Given the description of an element on the screen output the (x, y) to click on. 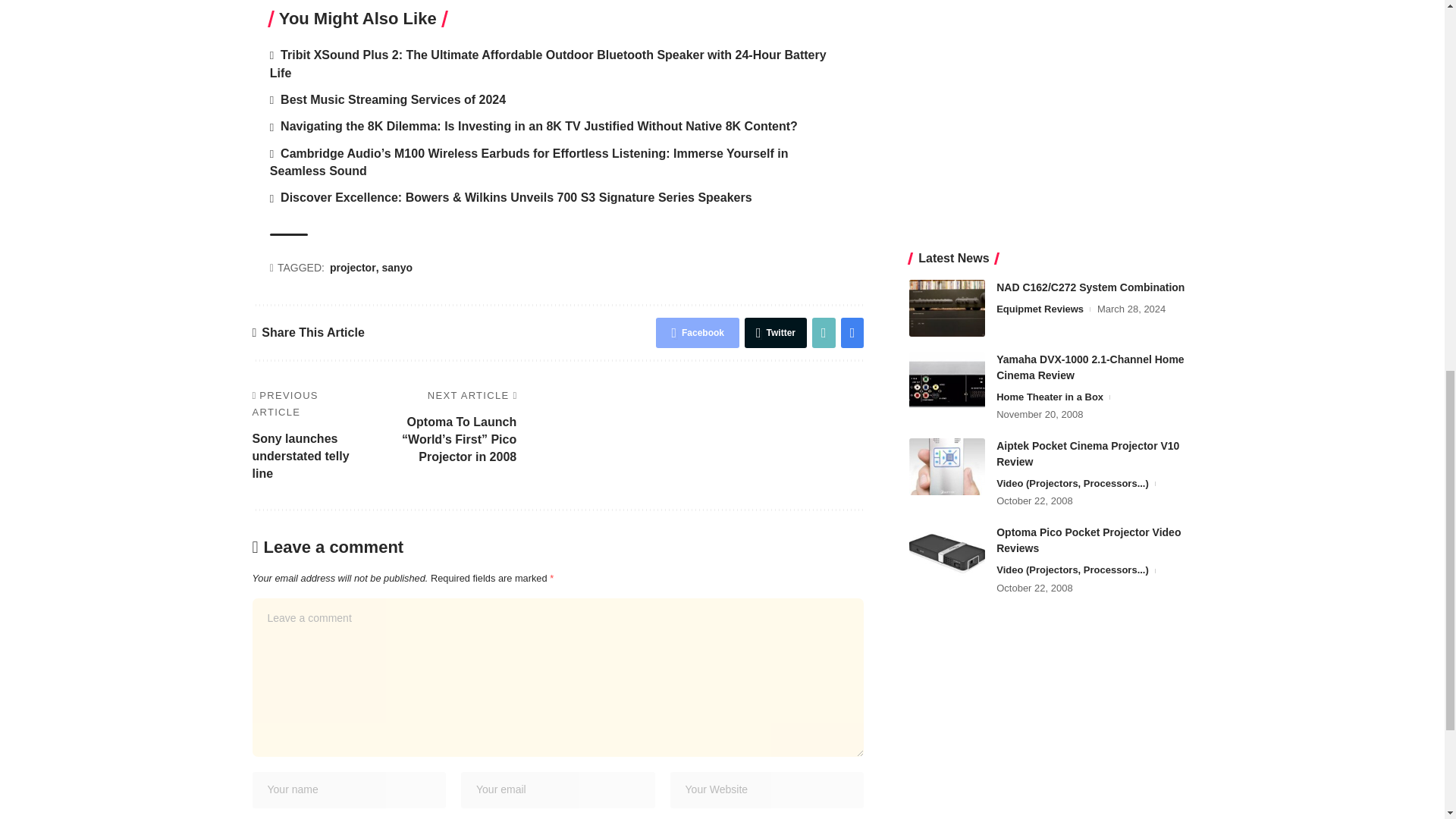
Optoma Pico Pocket Projector Video Reviews (946, 17)
